Given the description of an element on the screen output the (x, y) to click on. 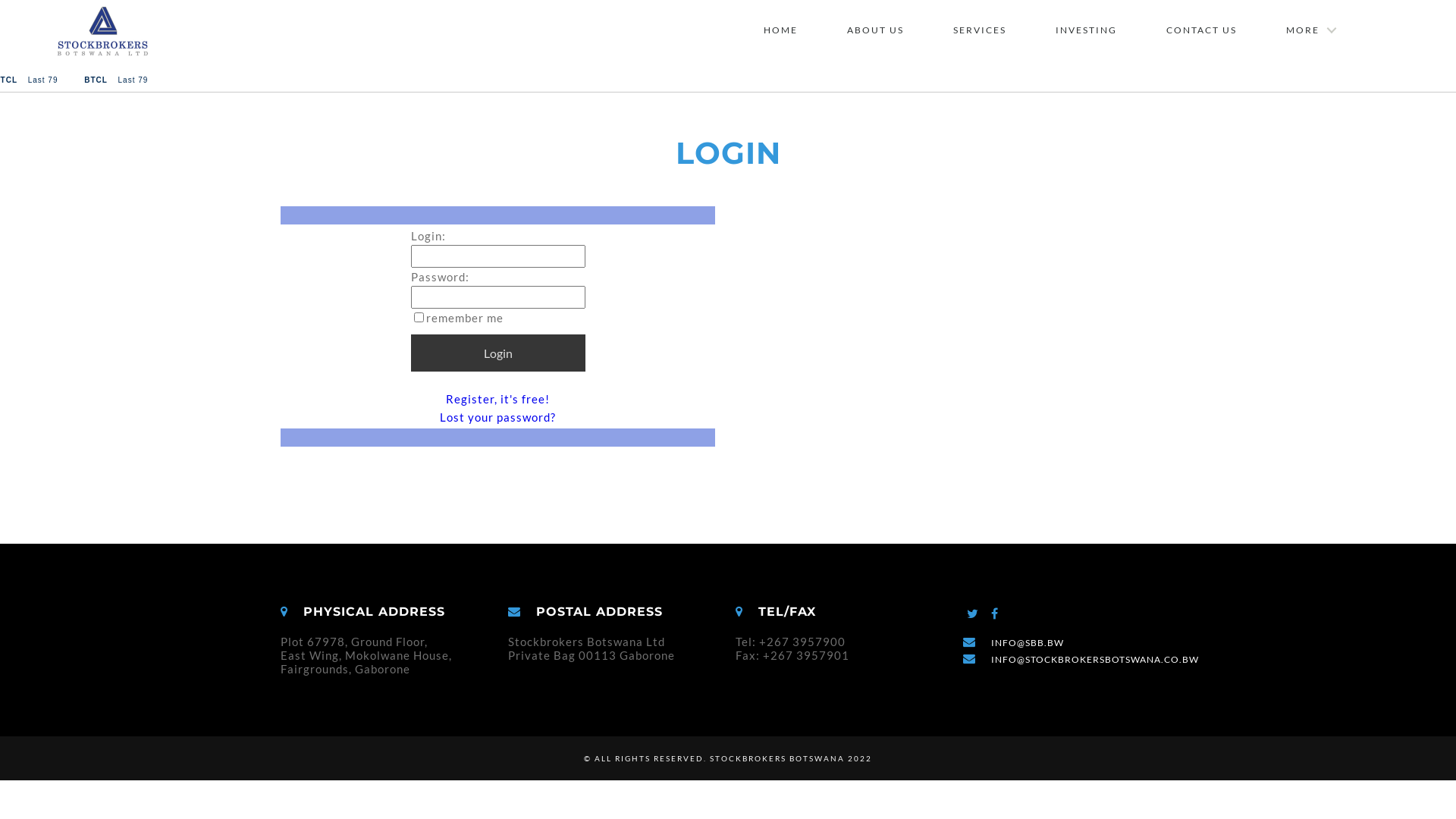
Login Element type: text (498, 352)
INFO@STOCKBROKERSBOTSWANA.CO.BW Element type: text (1094, 659)
CONTACT US Element type: text (1201, 30)
Register, it's free! Element type: text (497, 398)
HOME Element type: text (780, 30)
ABOUT US Element type: text (875, 30)
MORE Element type: text (1310, 30)
Lost your password? Element type: text (497, 416)
INFO@SBB.BW Element type: text (1027, 642)
INVESTING Element type: text (1086, 30)
SERVICES Element type: text (979, 30)
